Given the description of an element on the screen output the (x, y) to click on. 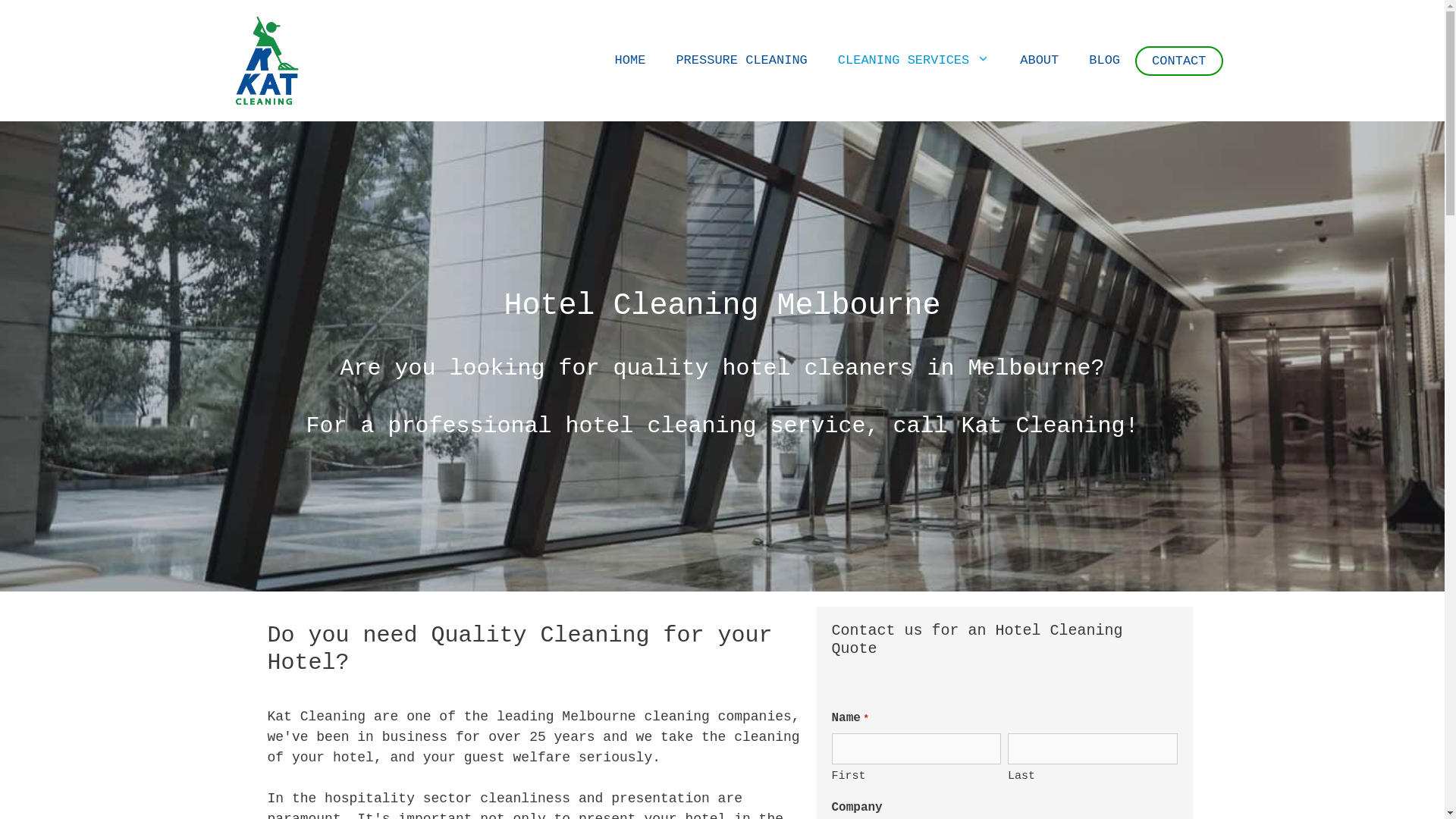
CLEANING SERVICES Element type: text (913, 60)
CONTACT Element type: text (1178, 60)
HOME Element type: text (630, 60)
ABOUT Element type: text (1038, 60)
PRESSURE CLEANING Element type: text (741, 60)
BLOG Element type: text (1104, 60)
